Given the description of an element on the screen output the (x, y) to click on. 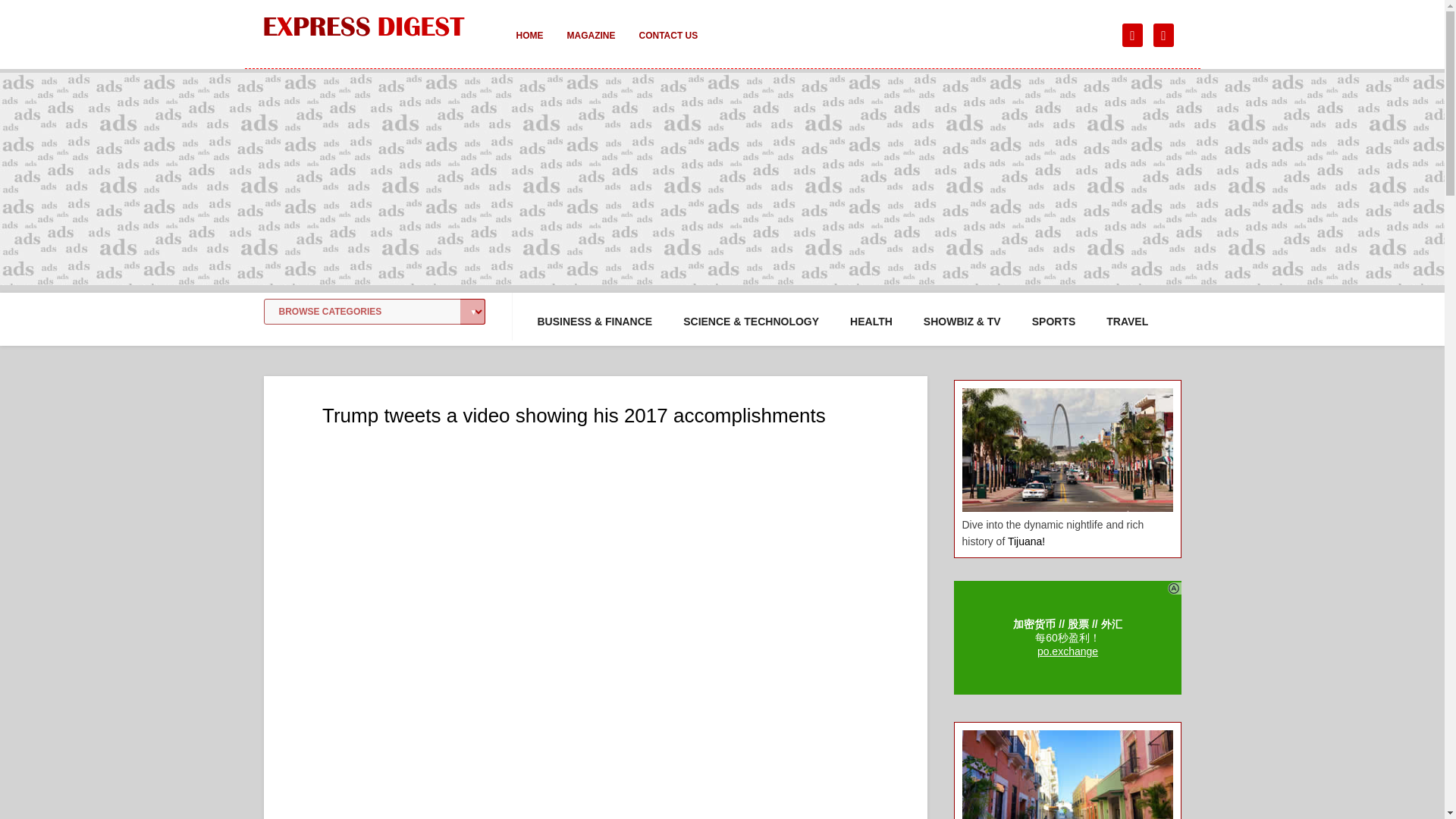
CONTACT US (667, 45)
SPORTS (1053, 321)
TRAVEL (1127, 321)
Tijuana! (1026, 541)
MAGAZINE (590, 45)
HEALTH (871, 321)
